Given the description of an element on the screen output the (x, y) to click on. 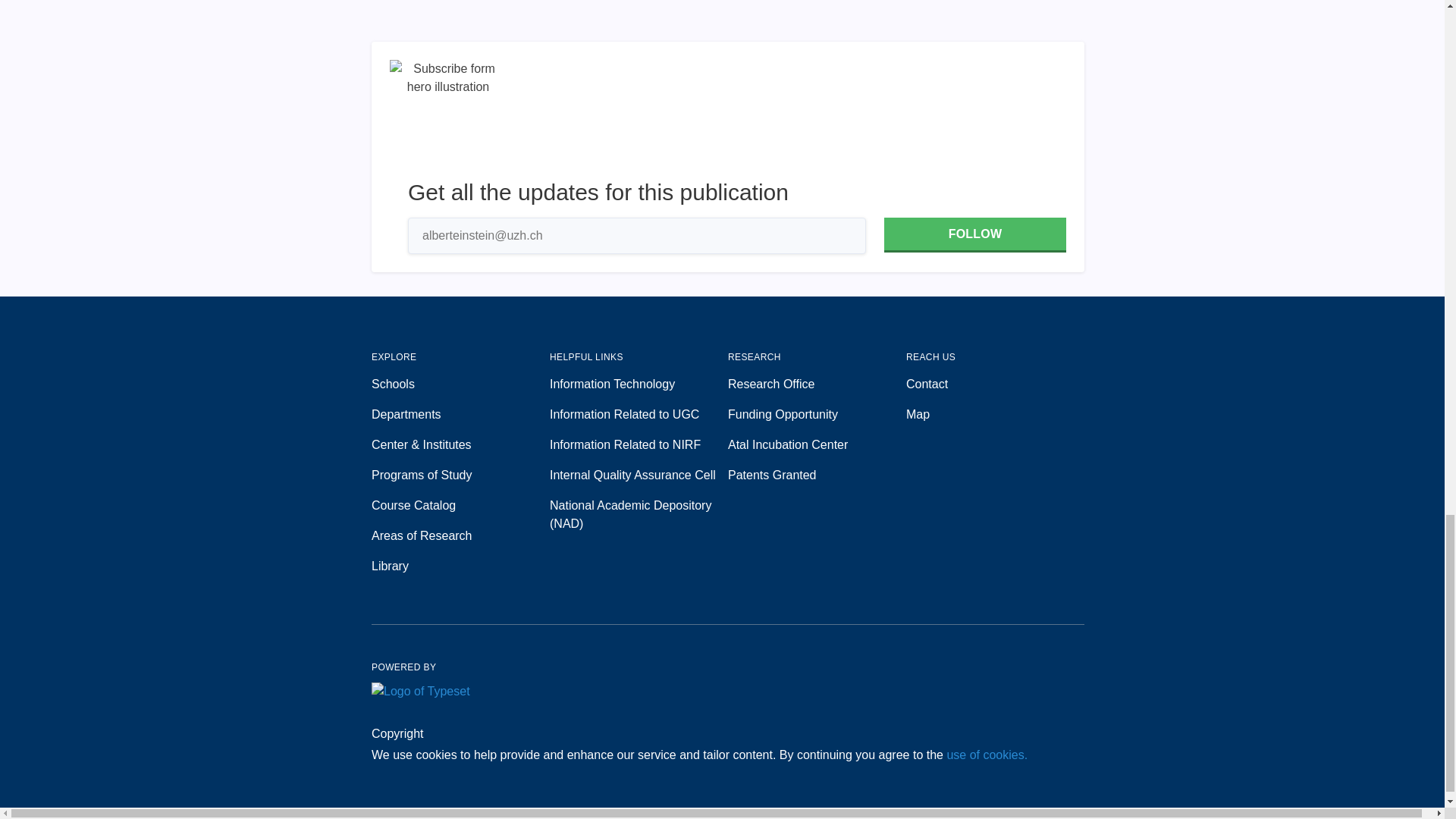
Schools (460, 384)
Library (460, 566)
Areas of Research (460, 536)
Atal Incubation Center (816, 444)
Information Technology (639, 384)
Departments (460, 414)
Contact (994, 384)
Subscribe form hero illustration (448, 117)
Patents Granted (816, 475)
Course Catalog (460, 505)
